Given the description of an element on the screen output the (x, y) to click on. 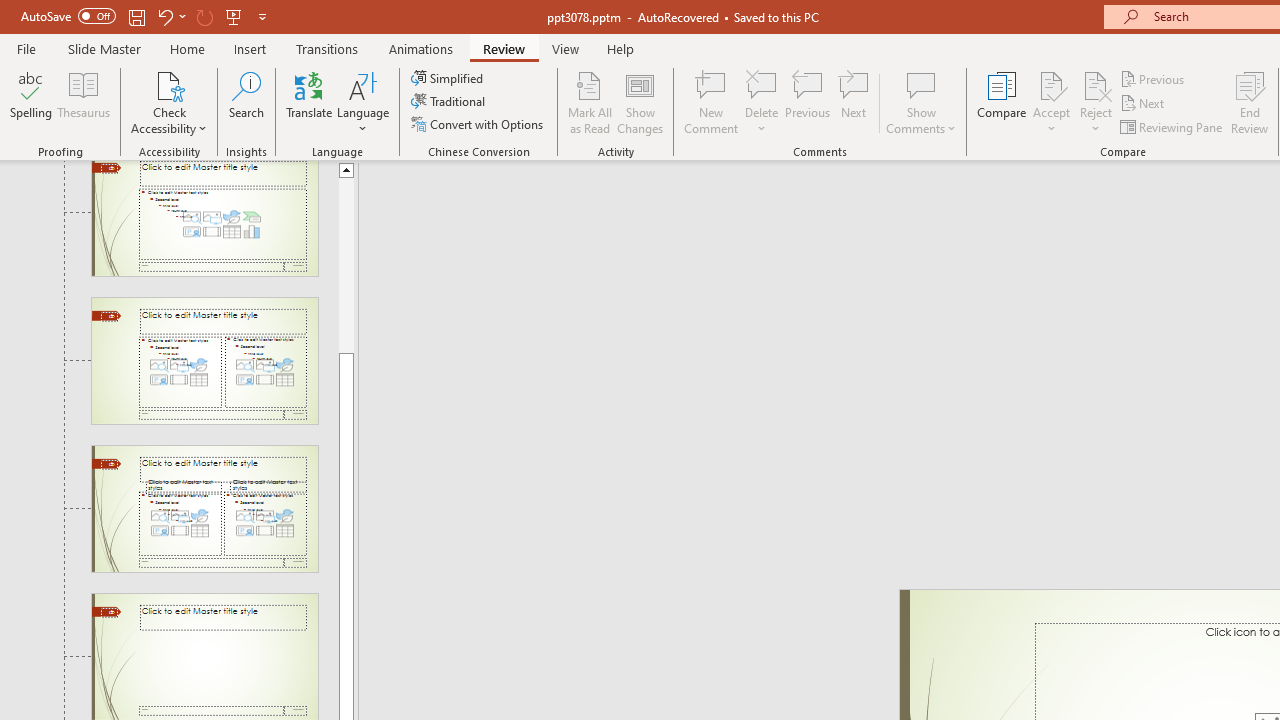
Slide Master (104, 48)
Accept (1051, 102)
Slide Comparison Layout: used by no slides (204, 508)
Language (363, 102)
Reject Change (1096, 84)
